Given the description of an element on the screen output the (x, y) to click on. 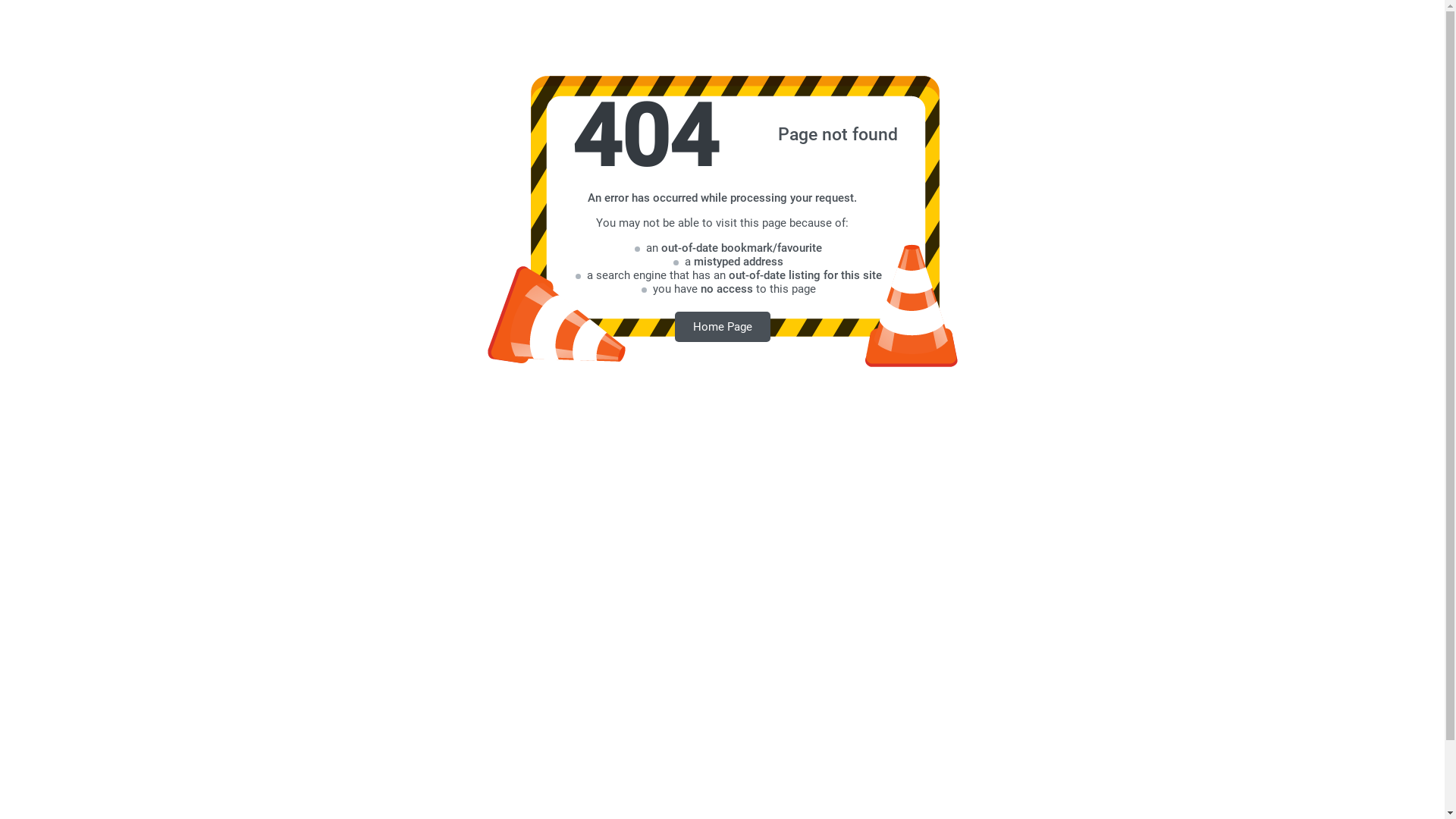
Home Page Element type: text (722, 326)
